Given the description of an element on the screen output the (x, y) to click on. 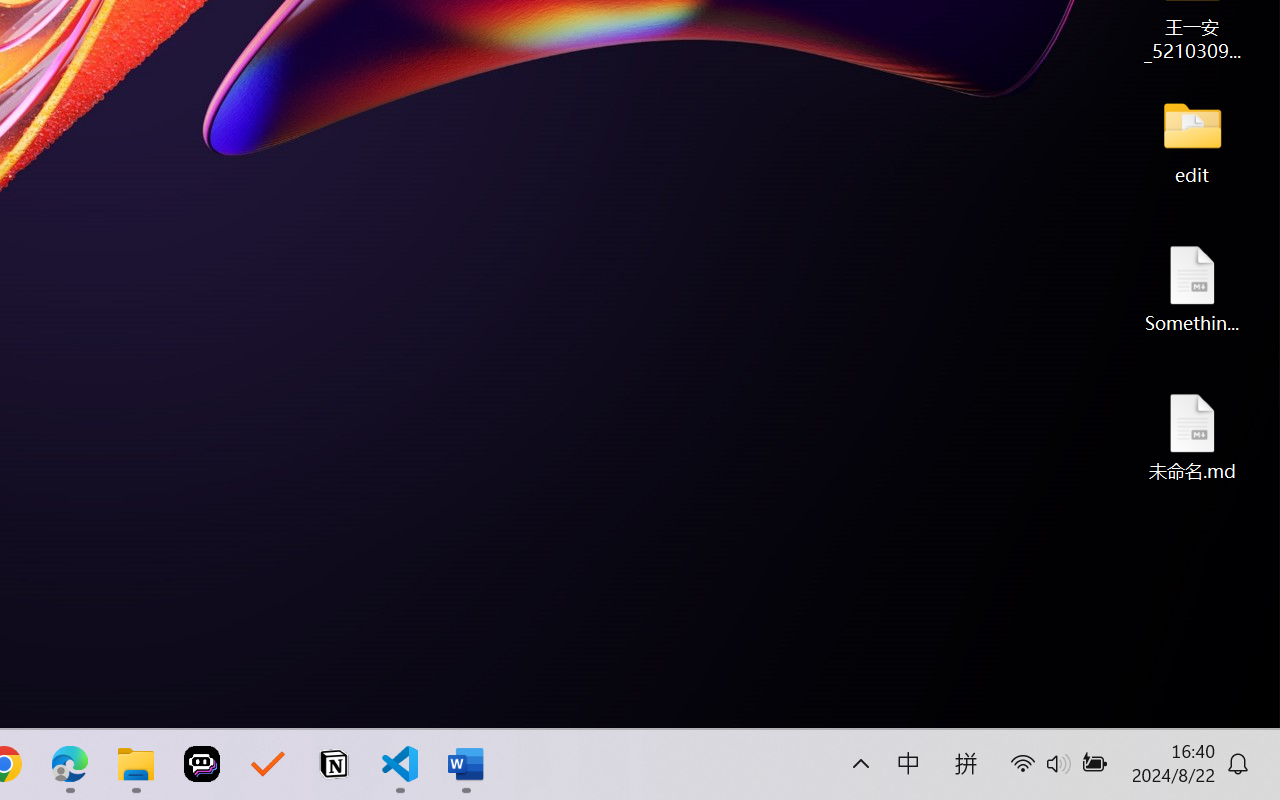
Poe (201, 764)
edit (1192, 140)
